Given the description of an element on the screen output the (x, y) to click on. 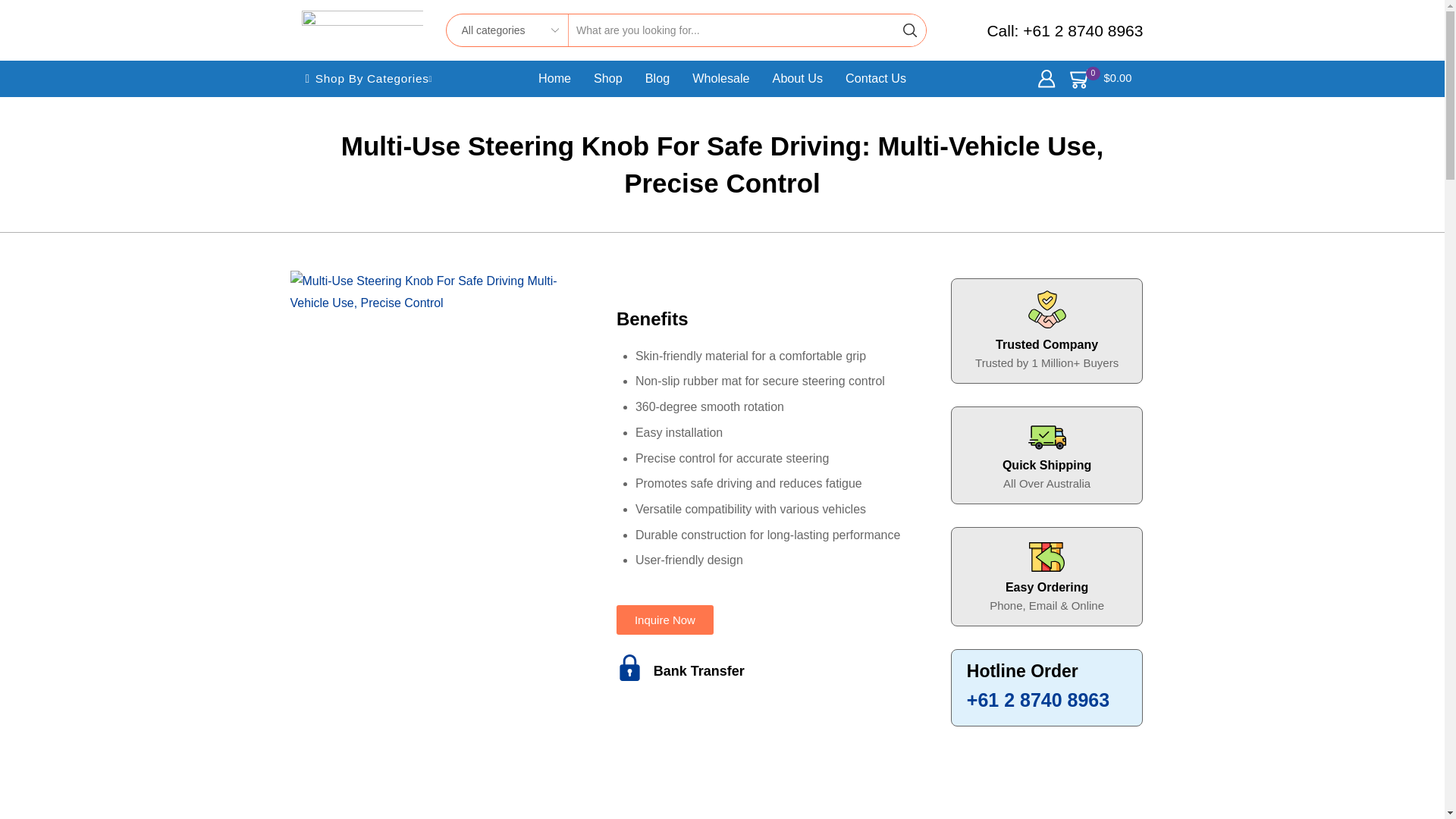
Wholesale (720, 78)
Home (554, 78)
Blog (657, 78)
Shop (608, 78)
Contact Us (876, 78)
About Us (797, 78)
